Given the description of an element on the screen output the (x, y) to click on. 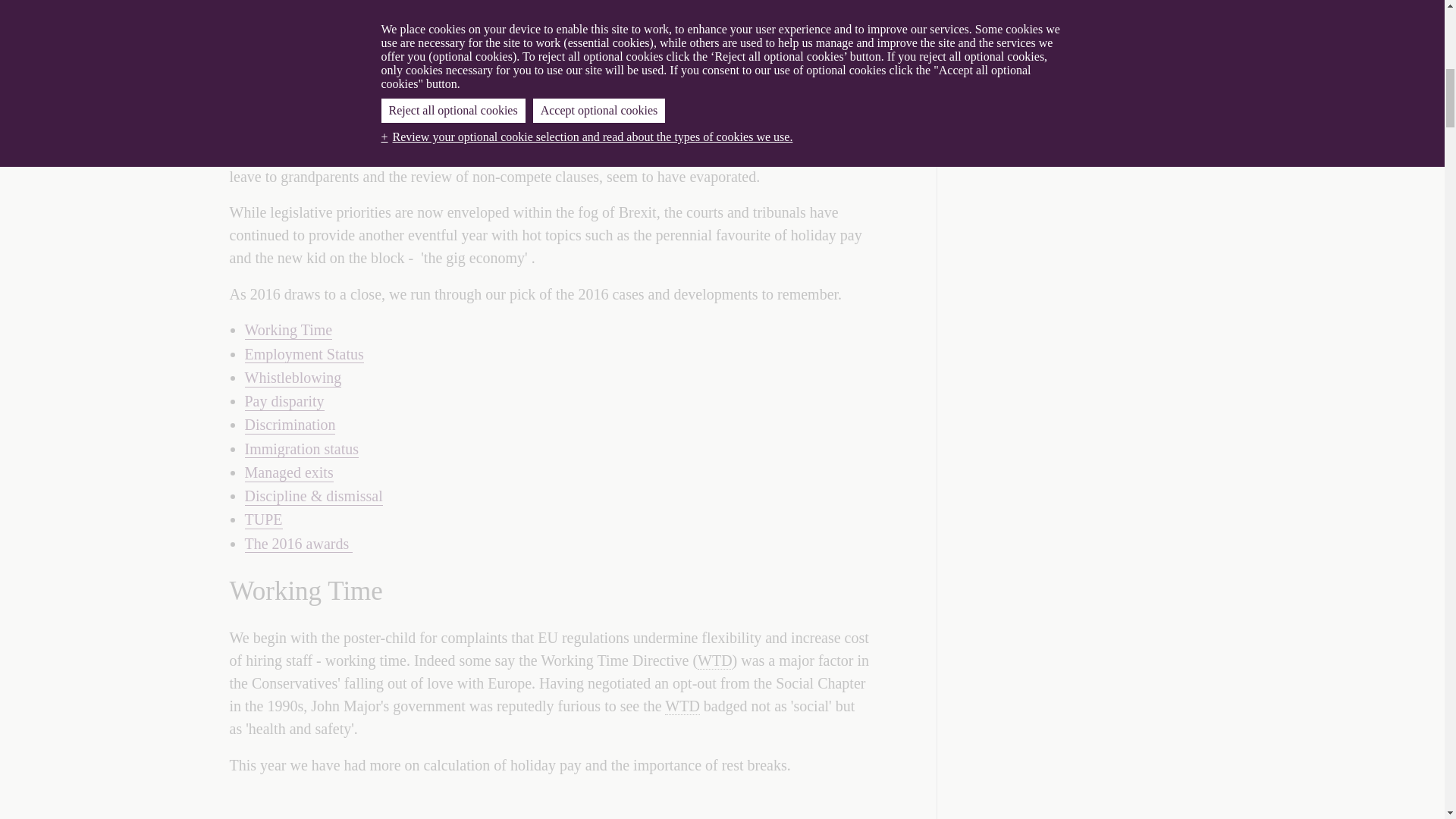
Working Time Directive (714, 660)
Working Time Directive (682, 705)
